Given the description of an element on the screen output the (x, y) to click on. 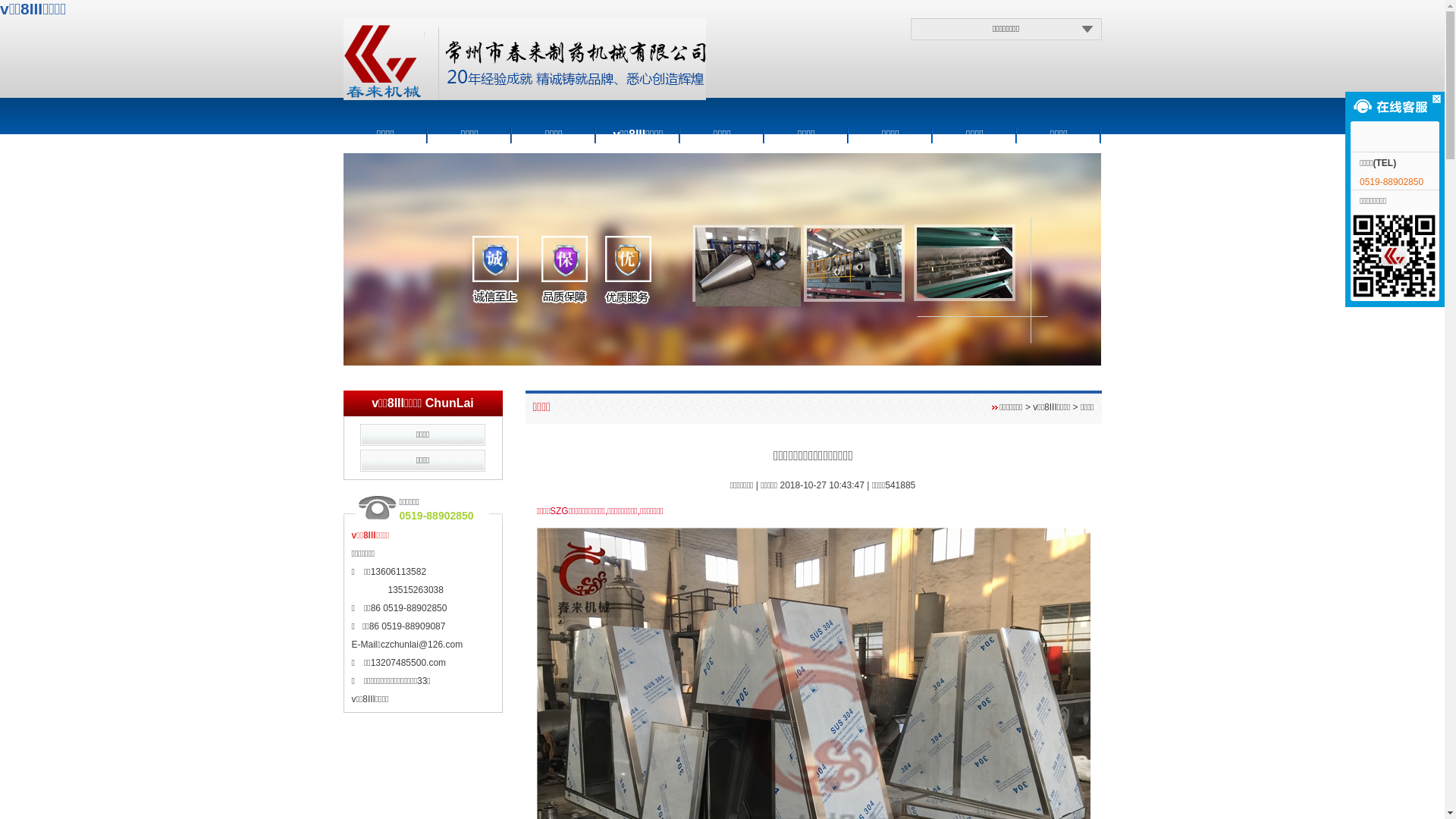
czchunlai@126.com Element type: text (421, 644)
13207485500.com Element type: text (407, 662)
